Given the description of an element on the screen output the (x, y) to click on. 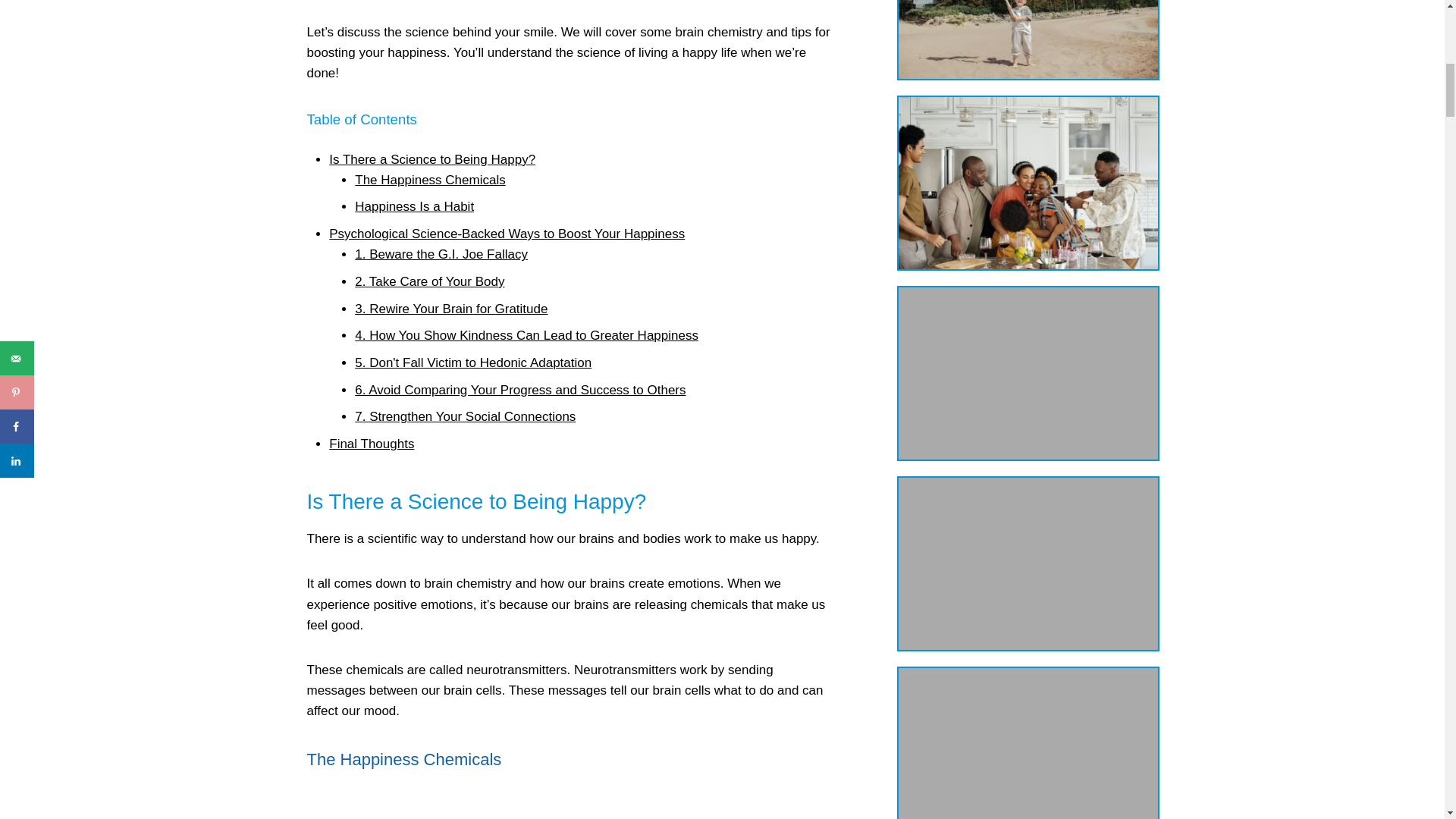
The Happiness Chemicals (430, 179)
1. Beware the G.I. Joe Fallacy (441, 254)
Happiness Is a Habit (414, 206)
4. How You Show Kindness Can Lead to Greater Happiness (526, 335)
Psychological Science-Backed Ways to Boost Your Happiness (506, 233)
3. Rewire Your Brain for Gratitude (451, 309)
5. Don't Fall Victim to Hedonic Adaptation (473, 362)
Is There a Science to Being Happy? (432, 159)
2. Take Care of Your Body (429, 281)
7. Strengthen Your Social Connections (465, 416)
